Given the description of an element on the screen output the (x, y) to click on. 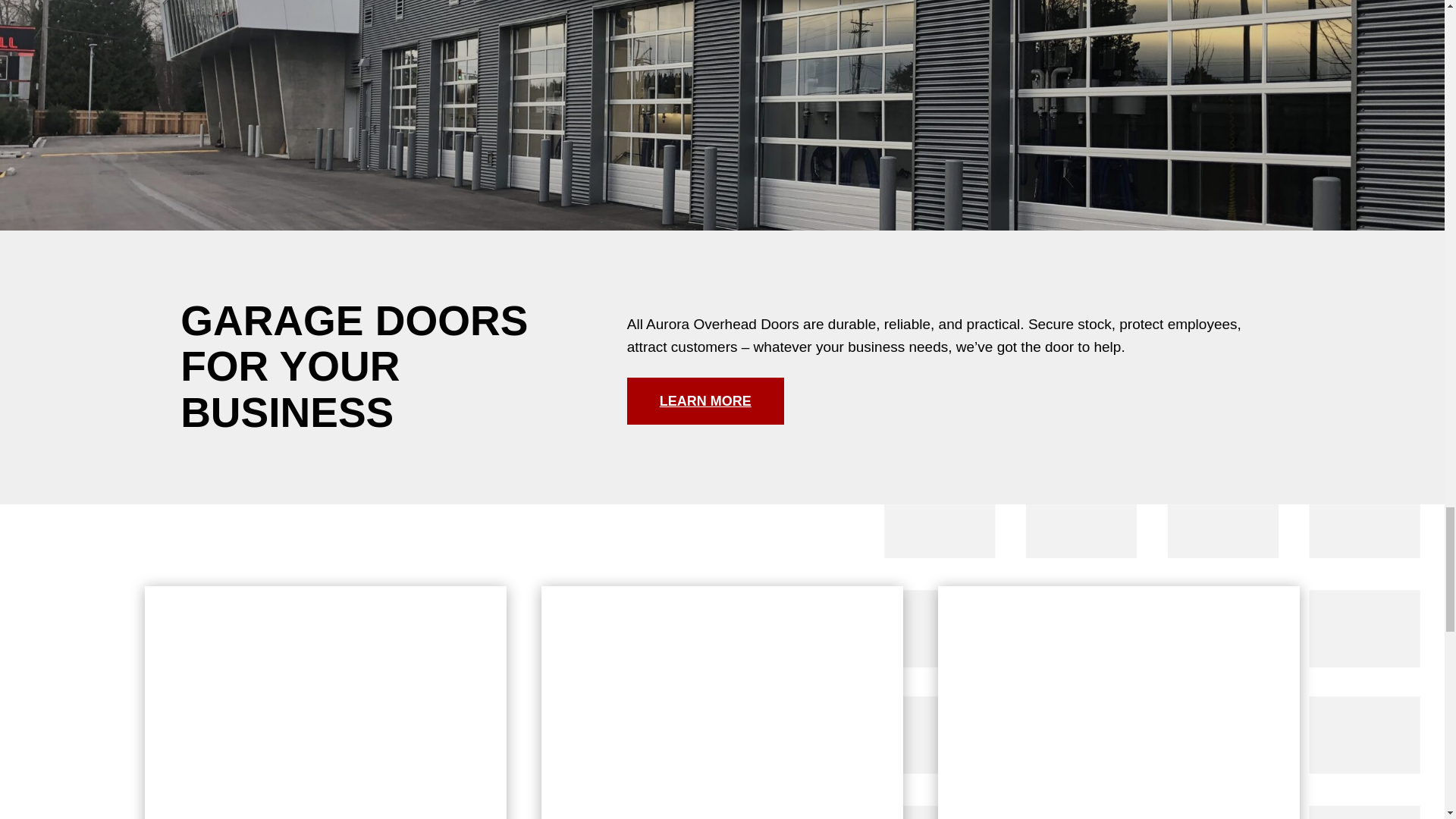
LEARN MORE (705, 401)
